Given the description of an element on the screen output the (x, y) to click on. 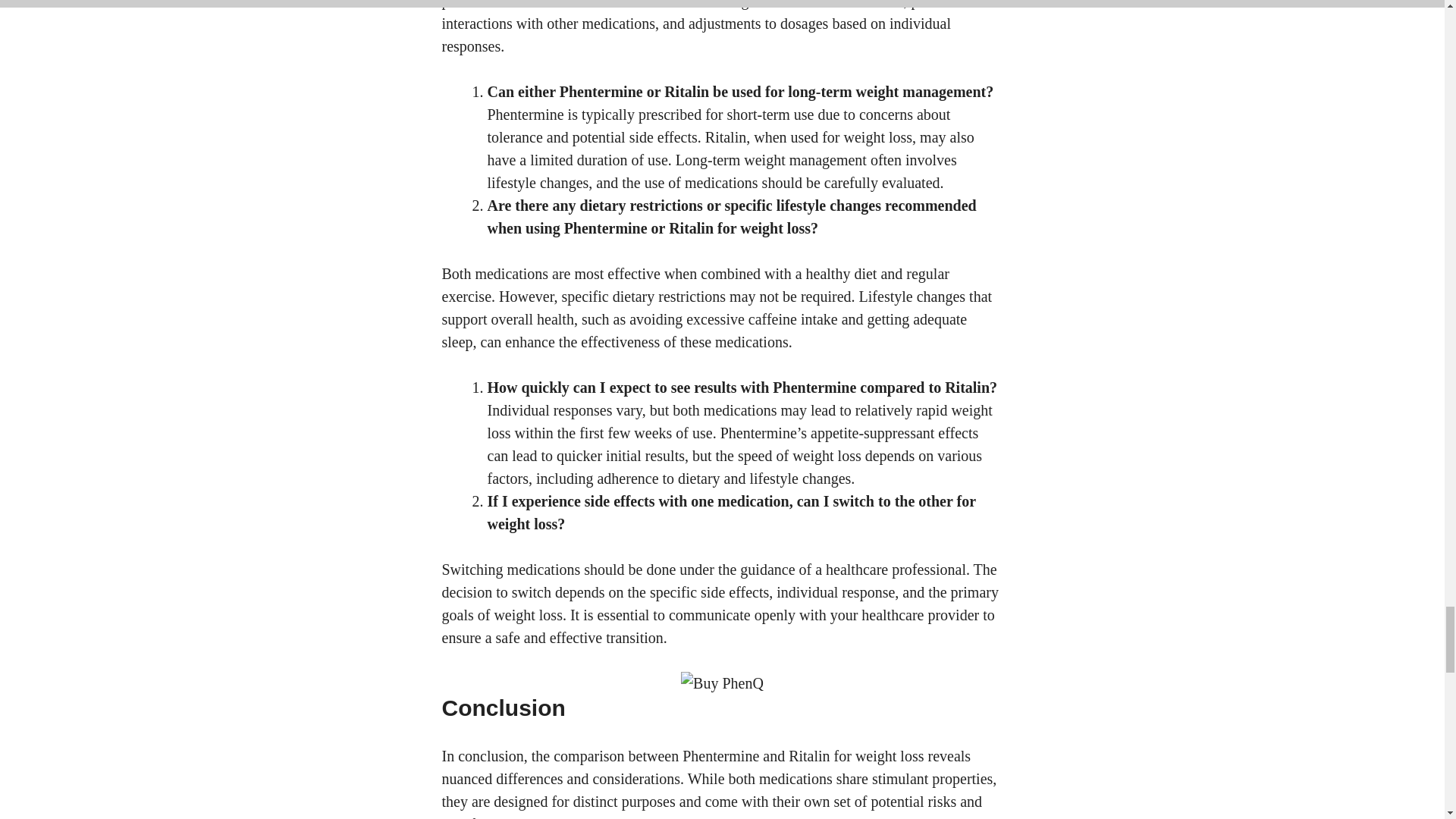
caffeine (772, 319)
